Given the description of an element on the screen output the (x, y) to click on. 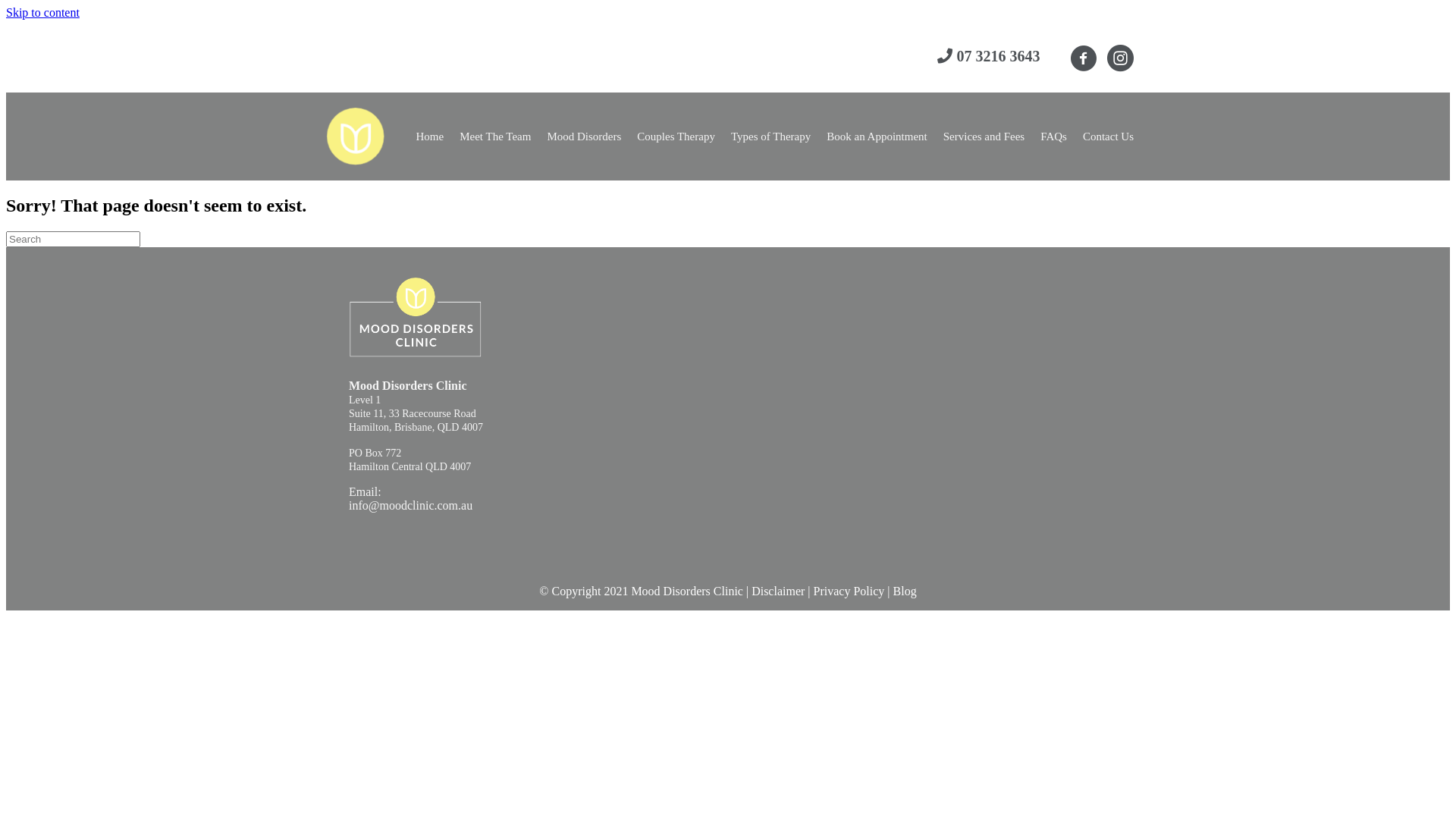
Privacy Policy  Element type: text (850, 590)
Meet The Team Element type: text (494, 136)
Types of Therapy Element type: text (770, 136)
Book an Appointment Element type: text (877, 136)
Blog Element type: text (904, 590)
Disclaimer Element type: text (777, 590)
Home Element type: text (429, 136)
Contact Us Element type: text (1108, 136)
07 3216 3643 Element type: text (997, 55)
logo Element type: hover (355, 136)
Mood Disorders Element type: text (583, 136)
info@moodclinic.com.au Element type: text (410, 504)
Type and press Enter to search. Element type: hover (727, 239)
FAQs Element type: text (1053, 136)
Services and Fees Element type: text (983, 136)
Couples Therapy Element type: text (675, 136)
Skip to content Element type: text (42, 12)
